Given the description of an element on the screen output the (x, y) to click on. 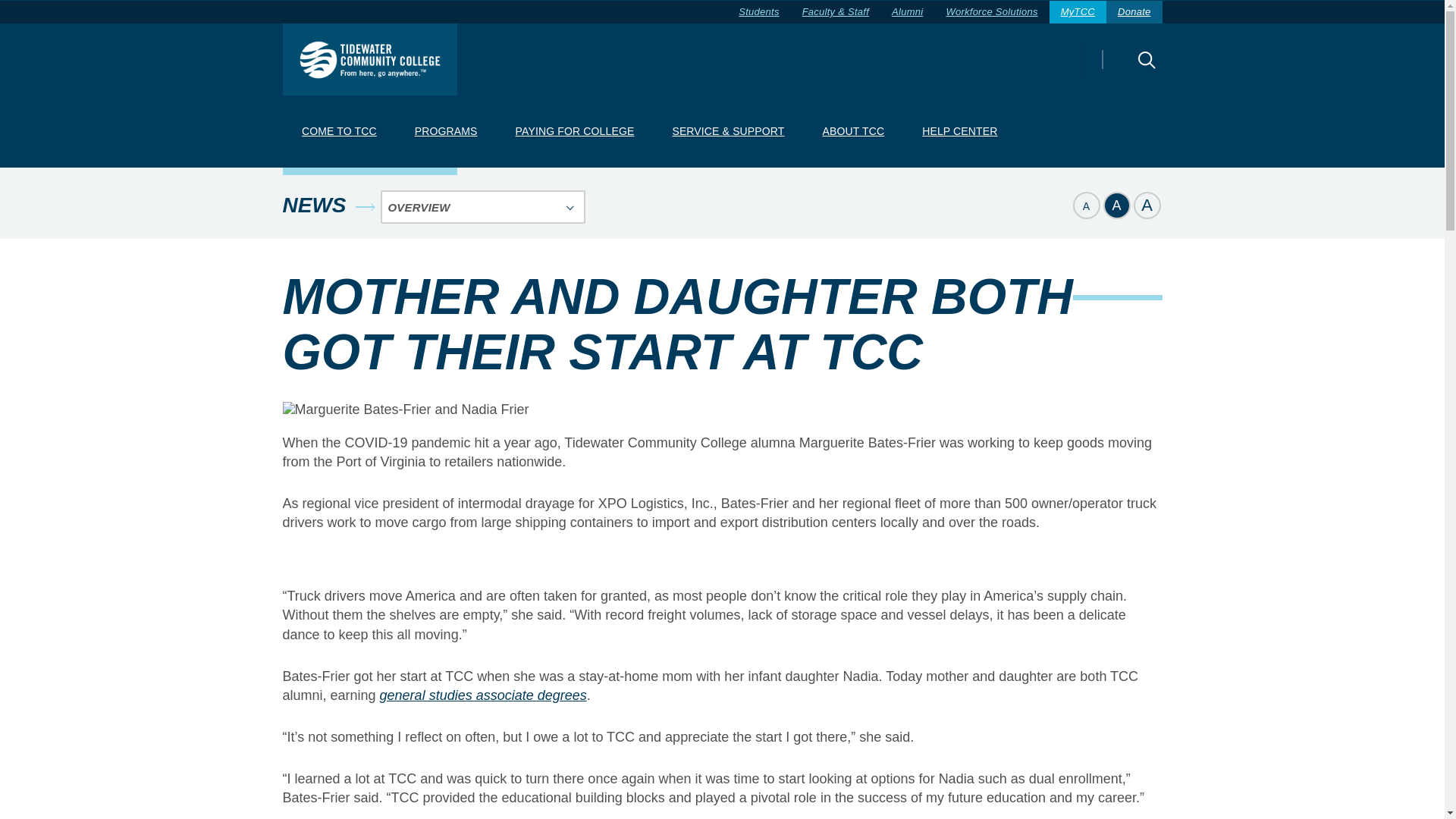
Alumni (907, 11)
PROGRAMS (445, 131)
Set page copy to normal size (1115, 205)
Set page copy to small size (1085, 205)
PAYING FOR COLLEGE (574, 131)
Students (758, 11)
Set page copy to large size (1146, 205)
Tidewater Community College (369, 59)
Donate (1133, 11)
COME TO TCC (338, 131)
